Given the description of an element on the screen output the (x, y) to click on. 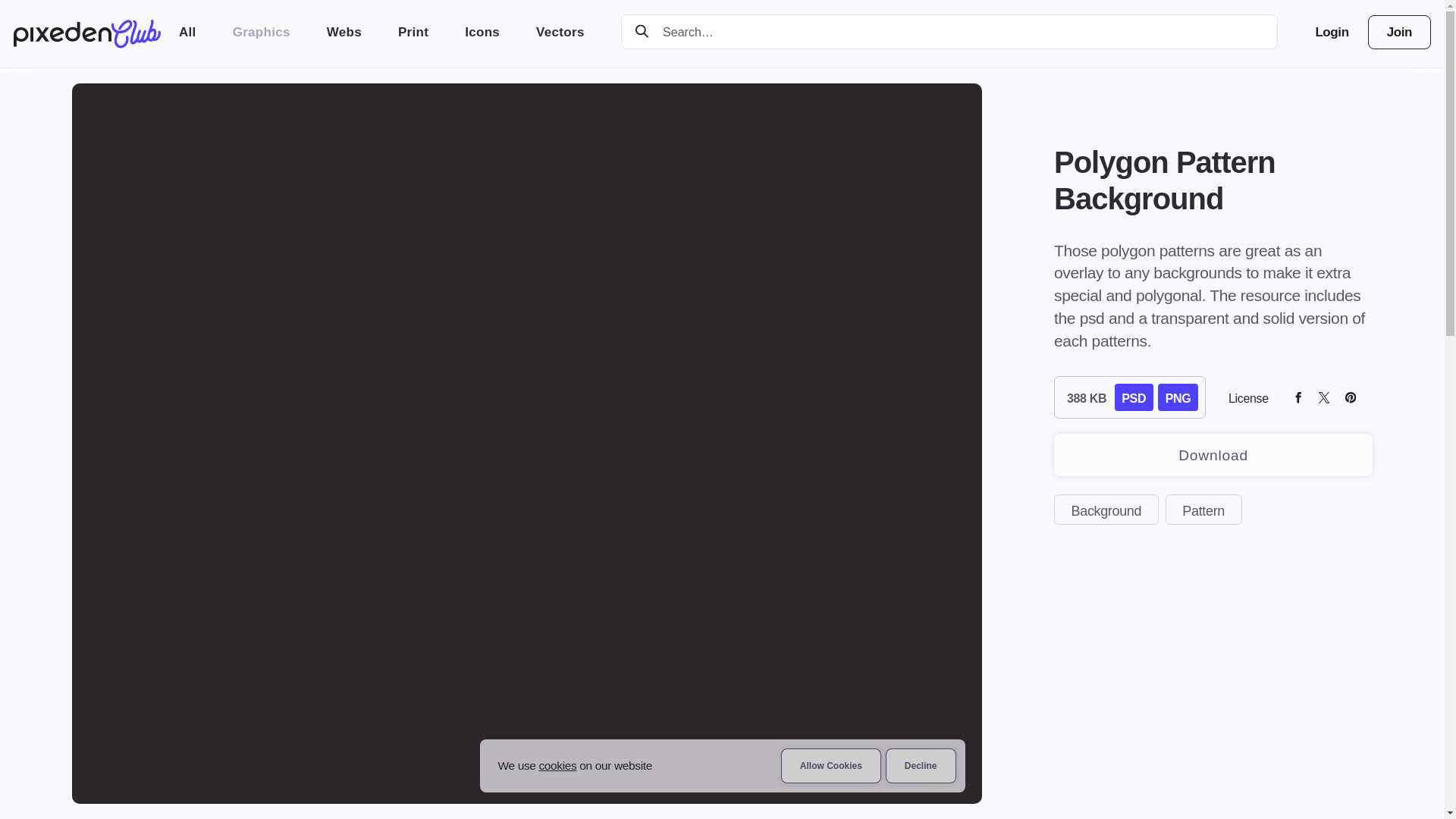
Graphics (261, 32)
Vectors (560, 32)
Icons (482, 32)
Print (413, 32)
All (187, 32)
Webs (344, 32)
